Given the description of an element on the screen output the (x, y) to click on. 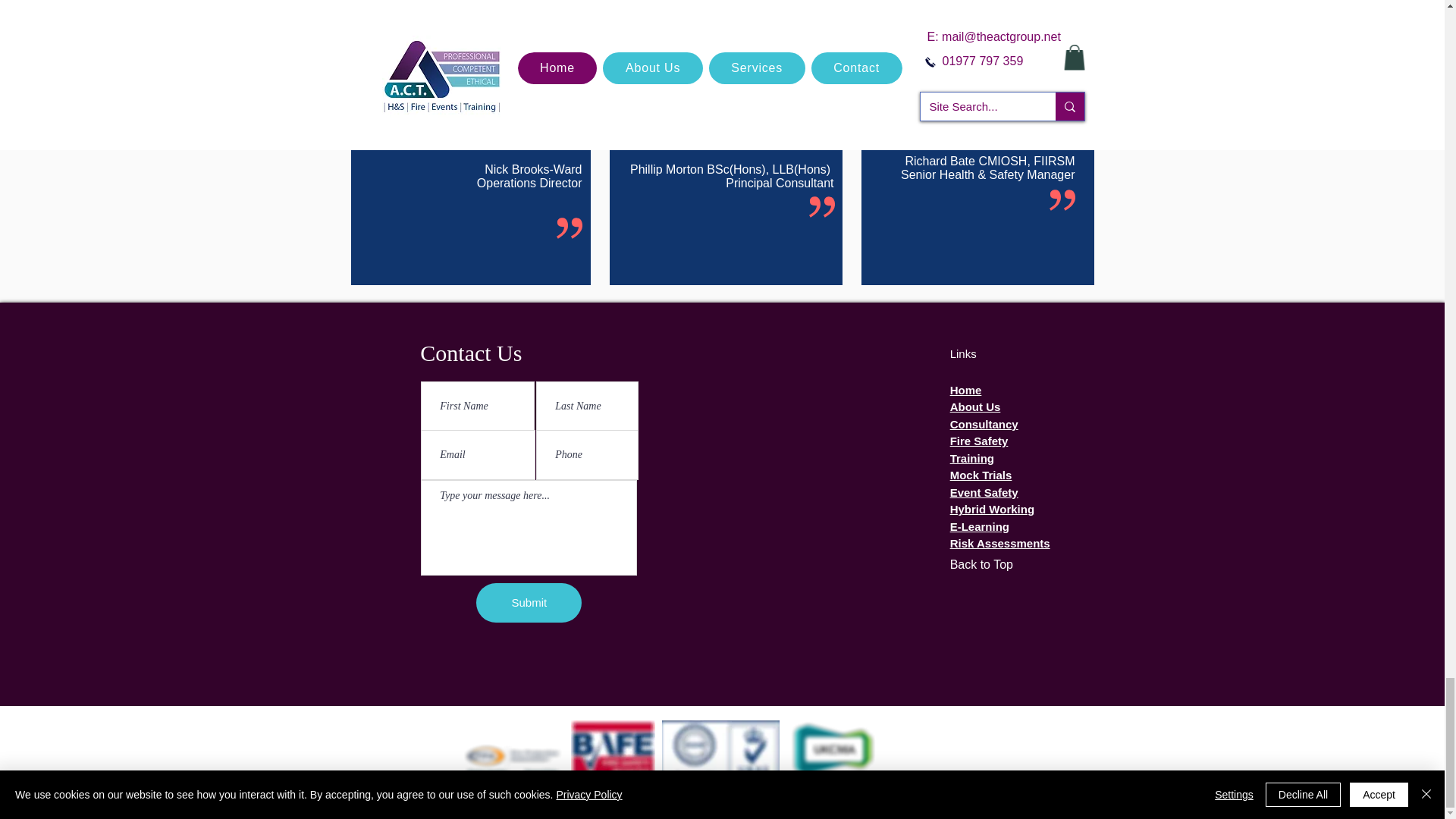
Hybrid Working (991, 508)
Event Safety (983, 492)
Consultancy (983, 423)
Back to Top (1009, 564)
Risk Assessments (999, 543)
About Us (975, 406)
E-Learning (979, 526)
Mock Trials (980, 474)
Home (965, 390)
Training (972, 458)
